Given the description of an element on the screen output the (x, y) to click on. 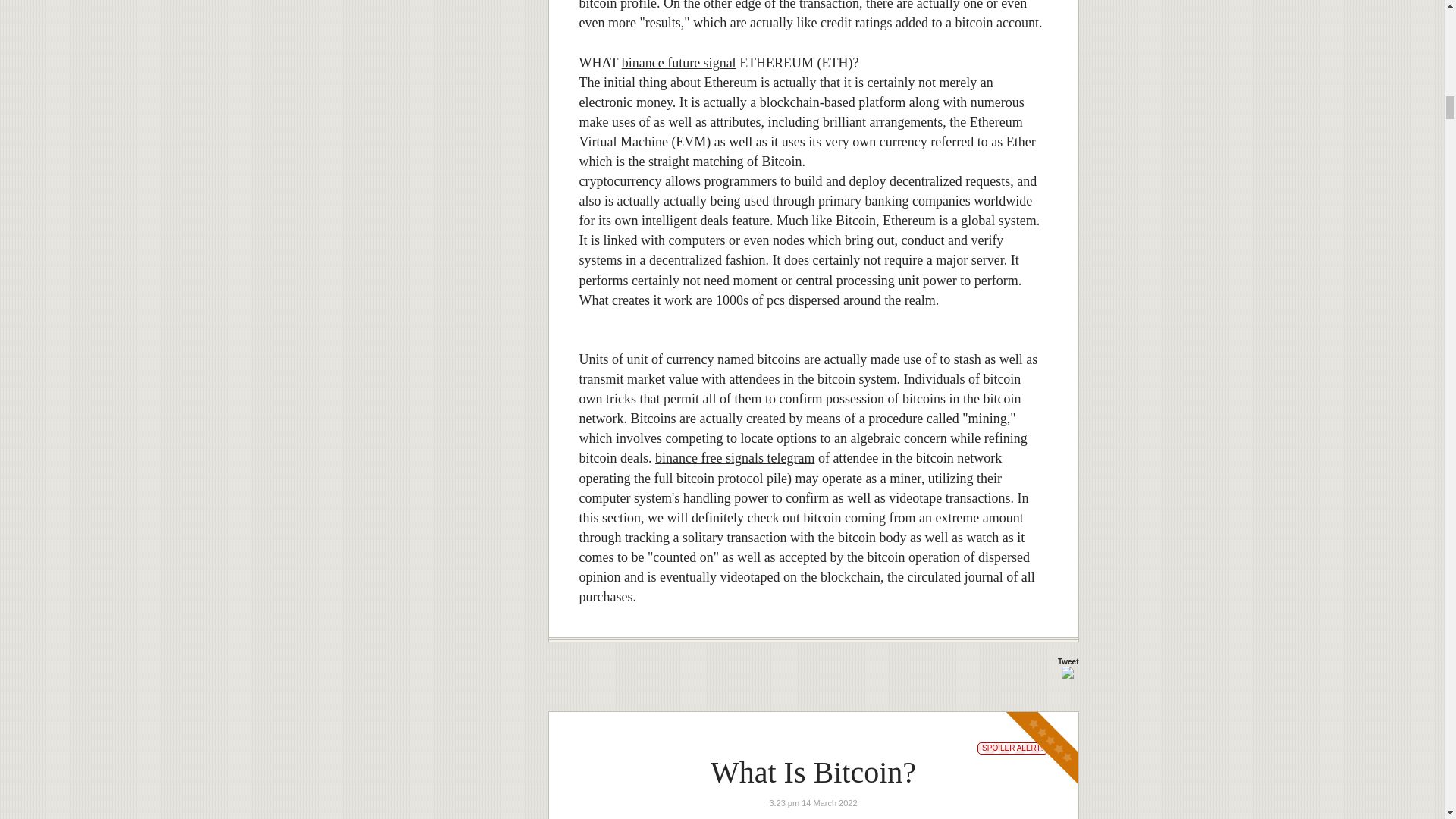
Tweet (1068, 661)
cryptocurrency (620, 181)
binance free signals telegram (734, 458)
binance future signal (678, 62)
